Given the description of an element on the screen output the (x, y) to click on. 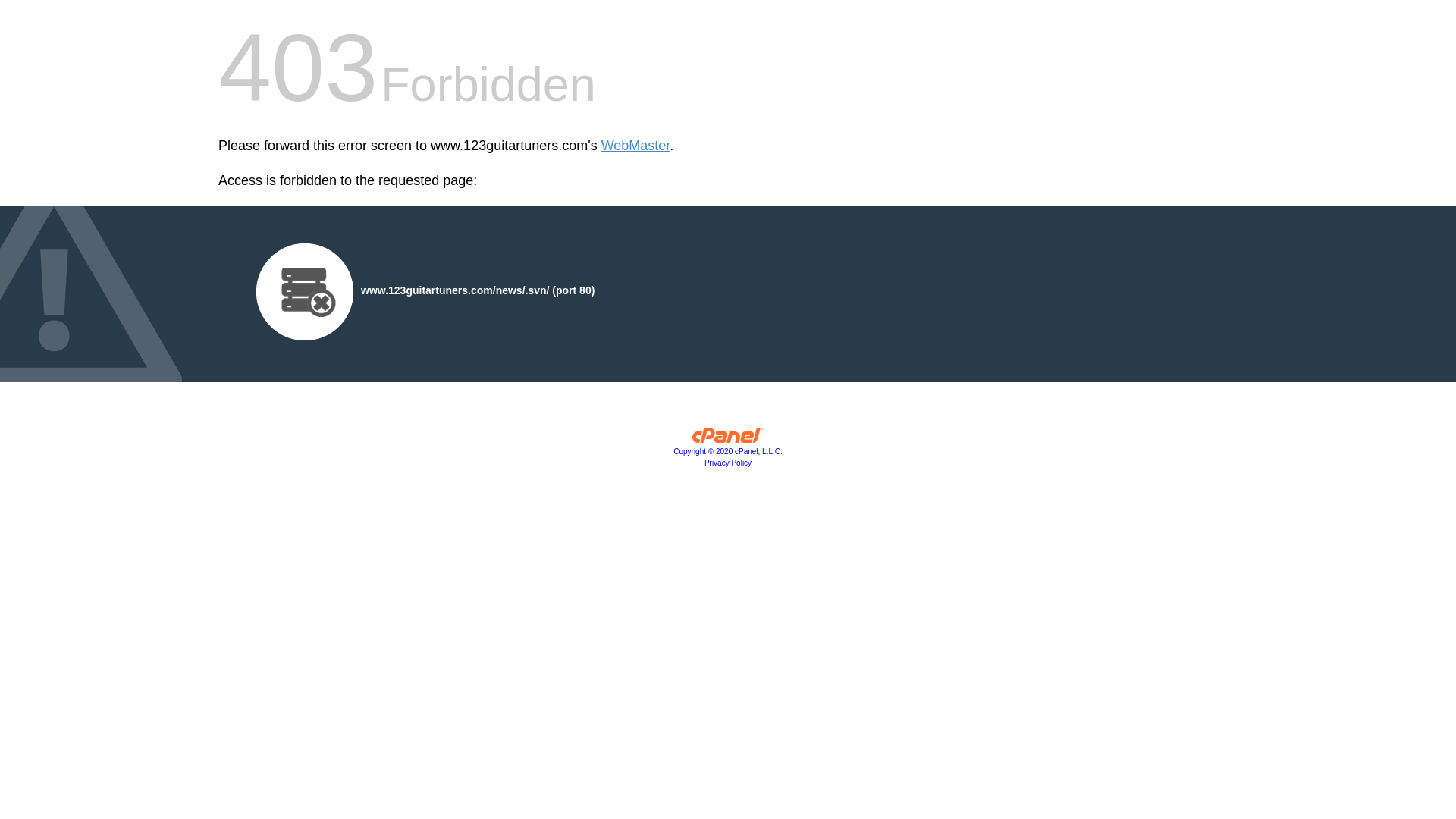
Privacy Policy Element type: text (727, 462)
WebMaster Element type: text (635, 145)
cPanel, Inc. Element type: hover (728, 439)
